Given the description of an element on the screen output the (x, y) to click on. 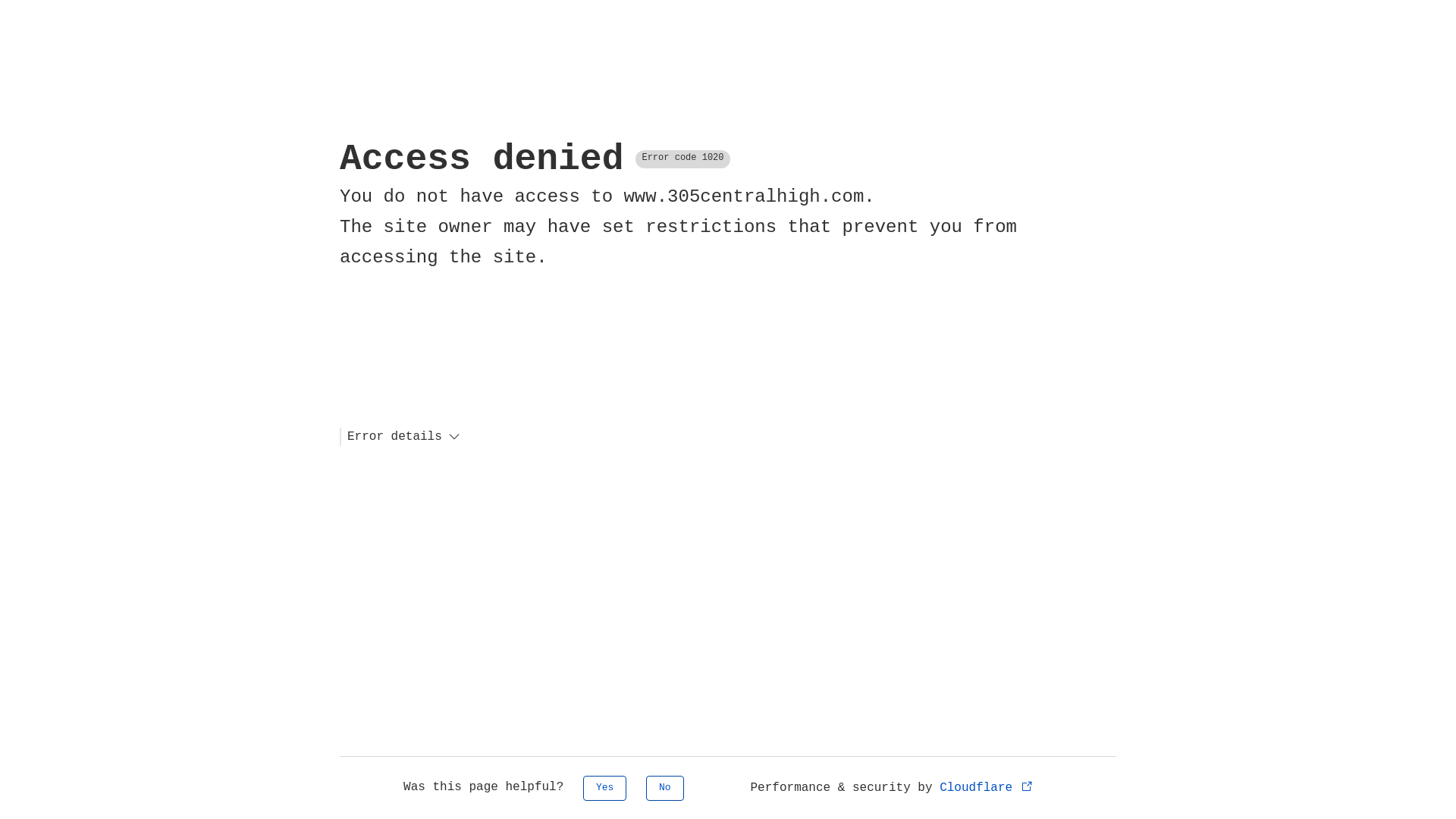
Yes Element type: text (604, 787)
No Element type: text (665, 787)
Cloudflare Element type: text (986, 787)
Opens in new tab Element type: hover (1027, 785)
